Given the description of an element on the screen output the (x, y) to click on. 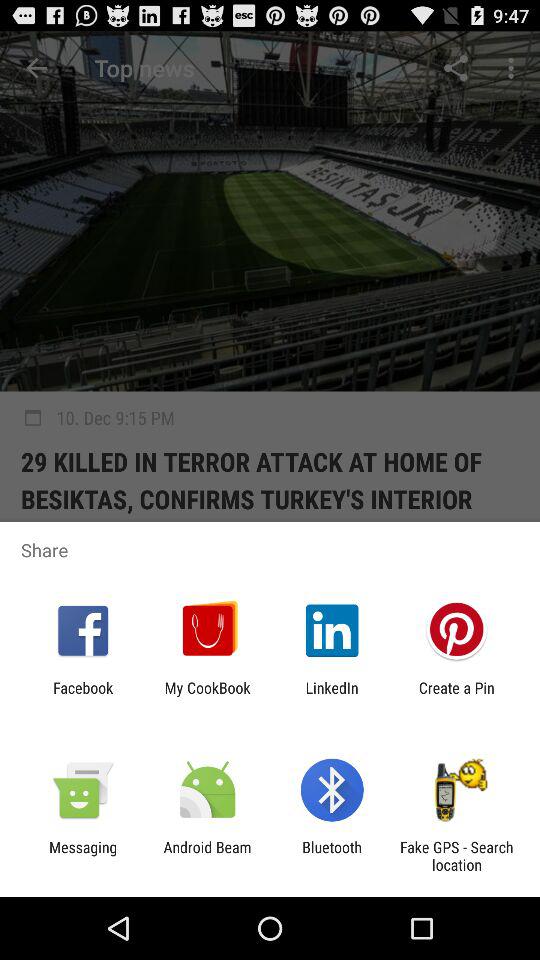
select app to the left of create a pin (331, 696)
